Given the description of an element on the screen output the (x, y) to click on. 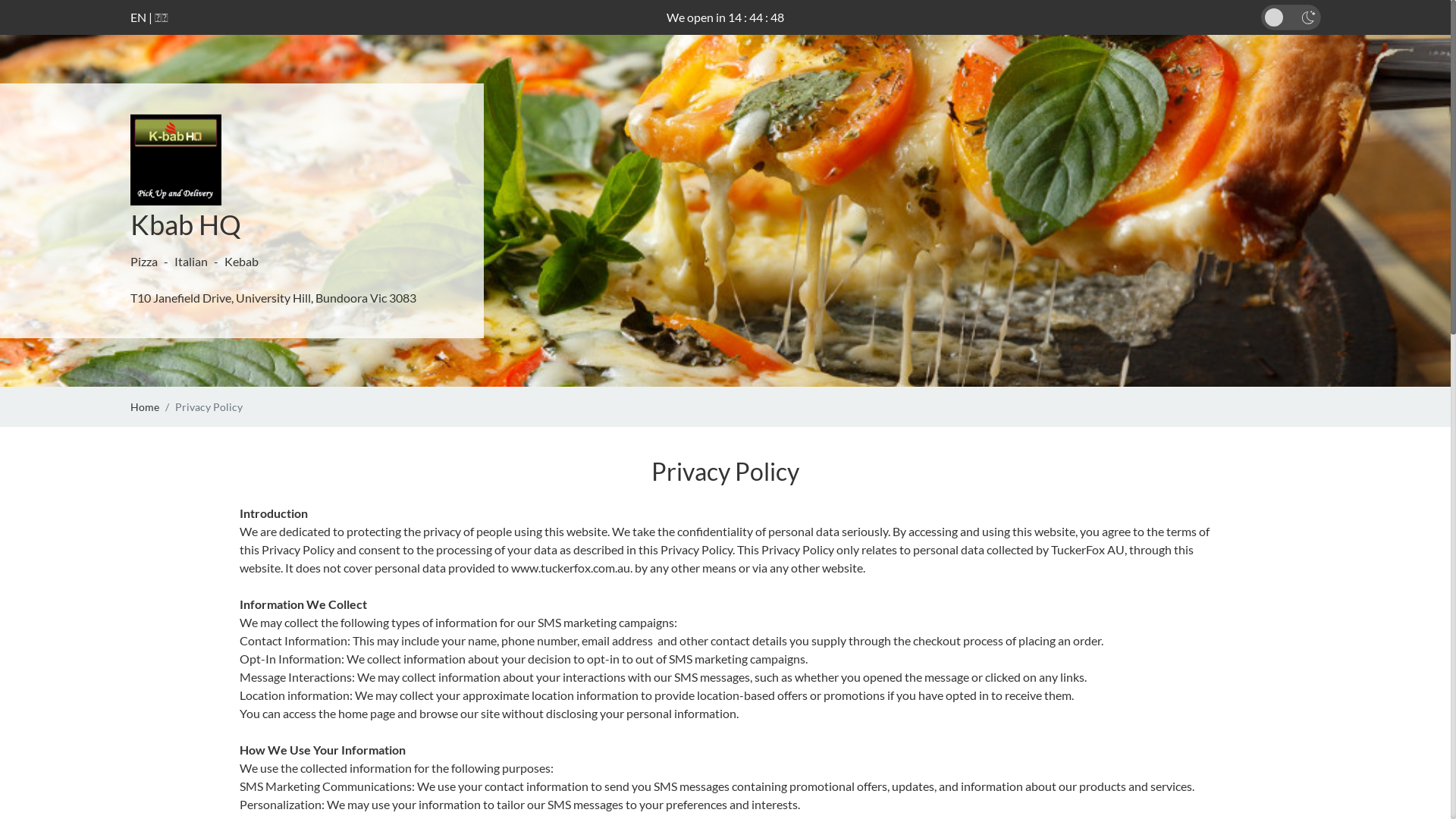
Kbab HQ Element type: text (185, 224)
Home Element type: text (144, 406)
EN Element type: text (138, 16)
